Given the description of an element on the screen output the (x, y) to click on. 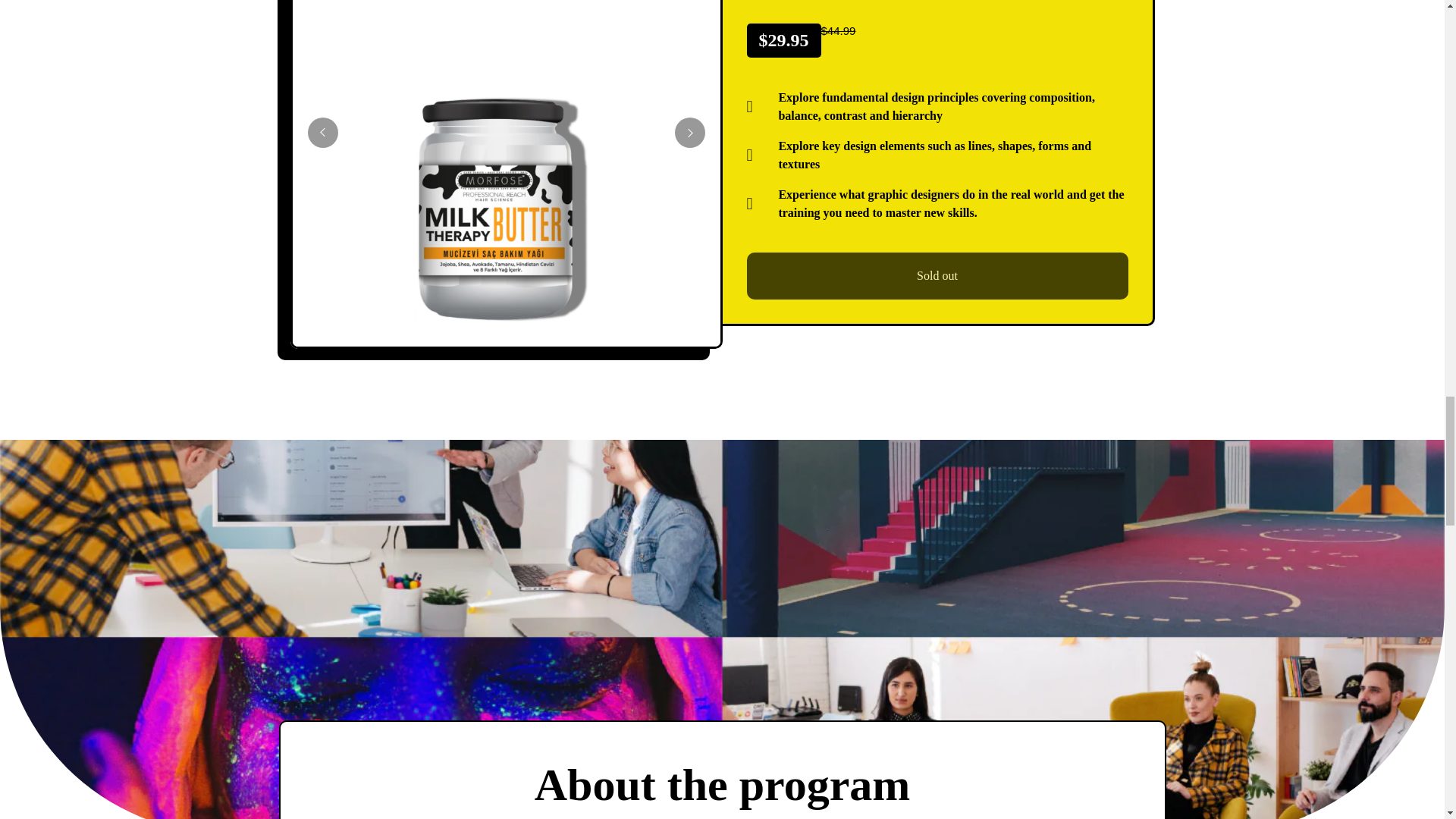
Sold out (935, 275)
